Given the description of an element on the screen output the (x, y) to click on. 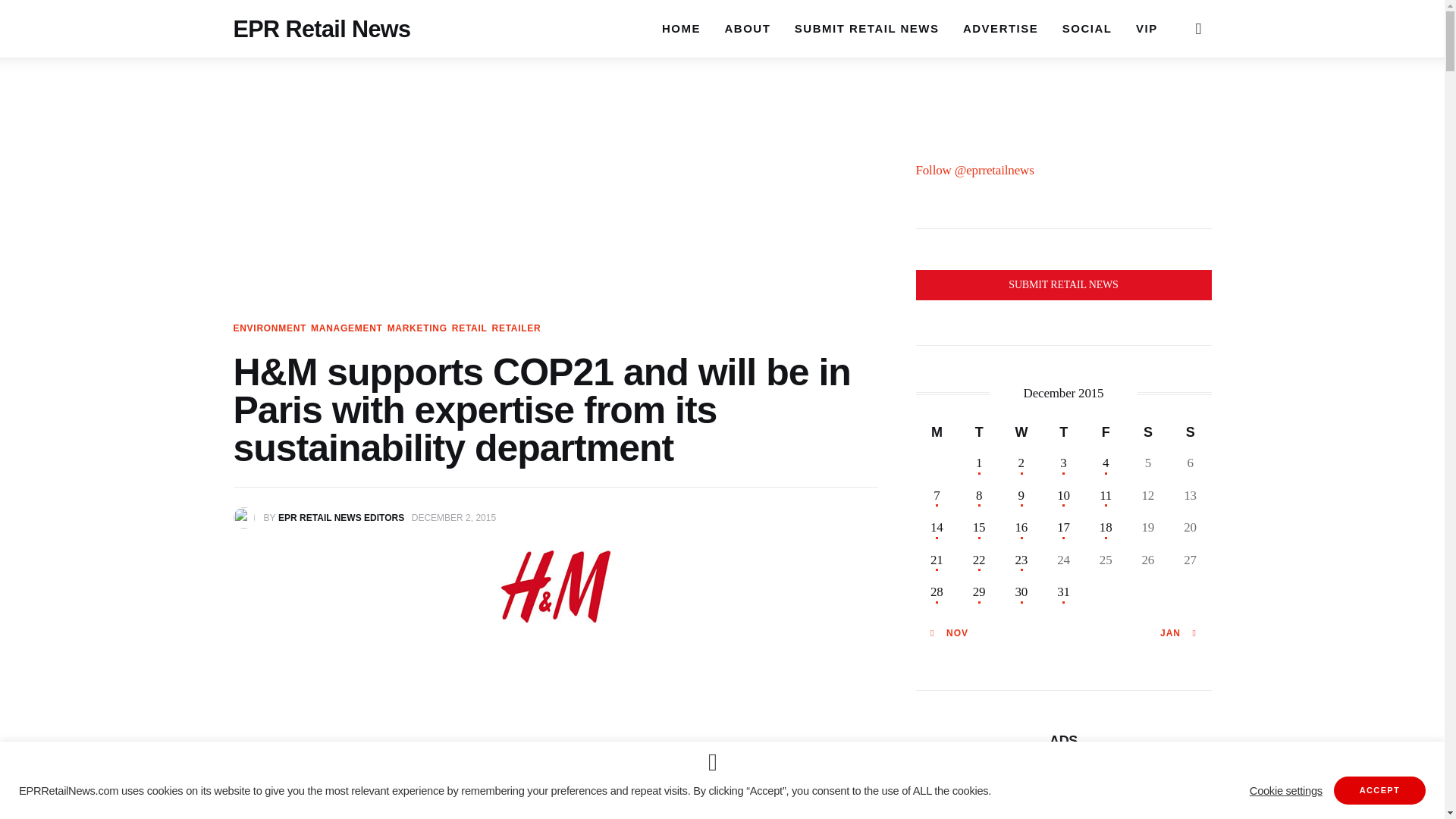
ADVERTISE (999, 28)
SUBMIT RETAIL NEWS (866, 28)
Sunday (1190, 431)
SOCIAL (1086, 28)
Advertisement (554, 740)
Tuesday (979, 431)
EPR Retail News (321, 12)
Monday (936, 431)
Saturday (1147, 431)
